Given the description of an element on the screen output the (x, y) to click on. 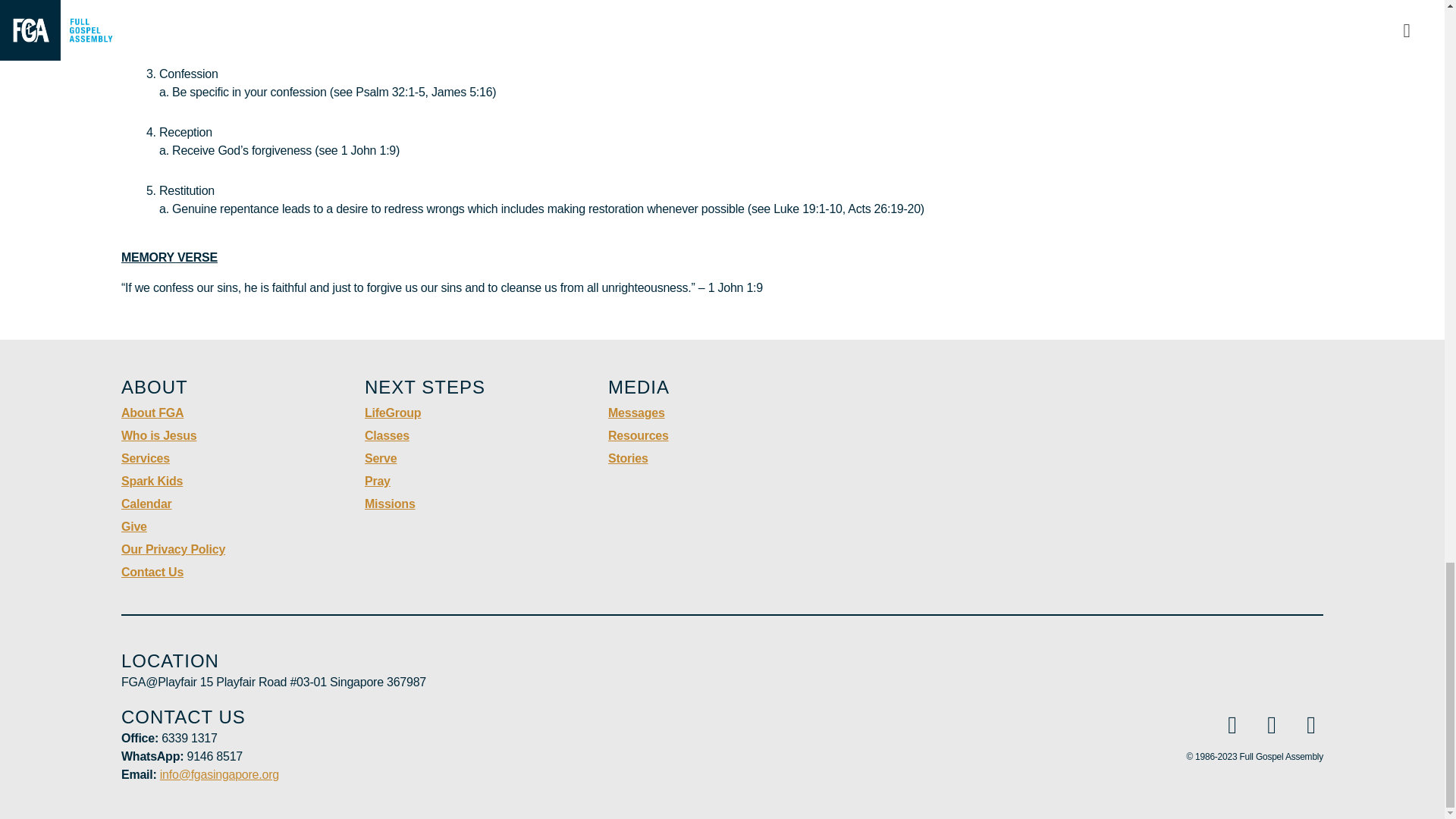
Services (145, 458)
Spark Kids (151, 481)
Who is Jesus (158, 435)
About FGA (151, 412)
